Given the description of an element on the screen output the (x, y) to click on. 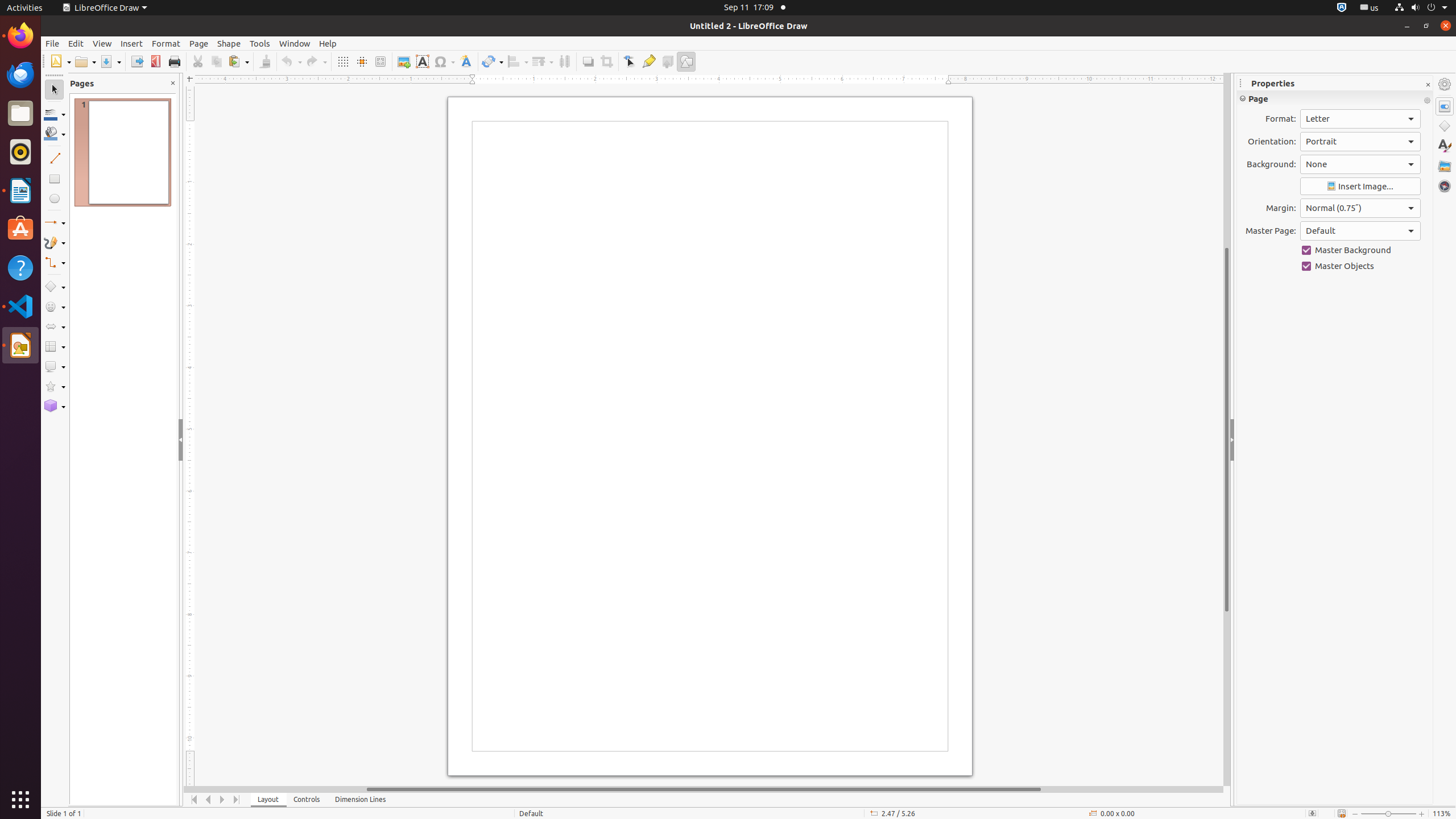
Vertical Ruler Element type: ruler (190, 436)
Insert Image Element type: push-button (1360, 186)
Toggle Extrusion Element type: push-button (667, 61)
Edit Element type: menu (75, 43)
Star Shapes Element type: push-button (54, 386)
